Given the description of an element on the screen output the (x, y) to click on. 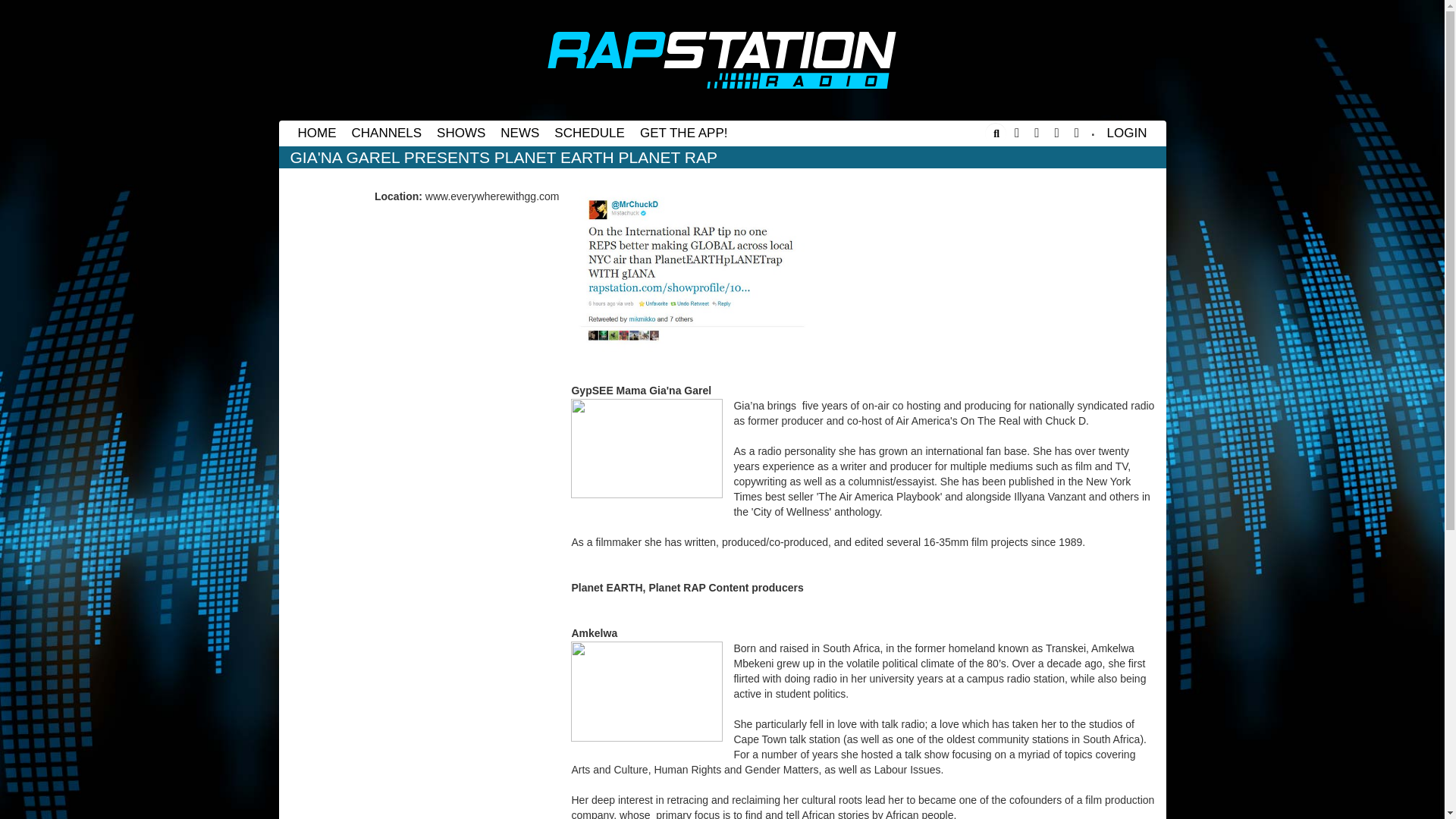
LOGIN (1126, 133)
CHANNELS (386, 133)
NEWS (520, 133)
HOME (316, 133)
RAPSTATION (722, 59)
SCHEDULE (589, 133)
GET THE APP! (683, 133)
SHOWS (461, 133)
Chuck D PEPR Tweet by mikmikko, on Flickr (691, 270)
